Given the description of an element on the screen output the (x, y) to click on. 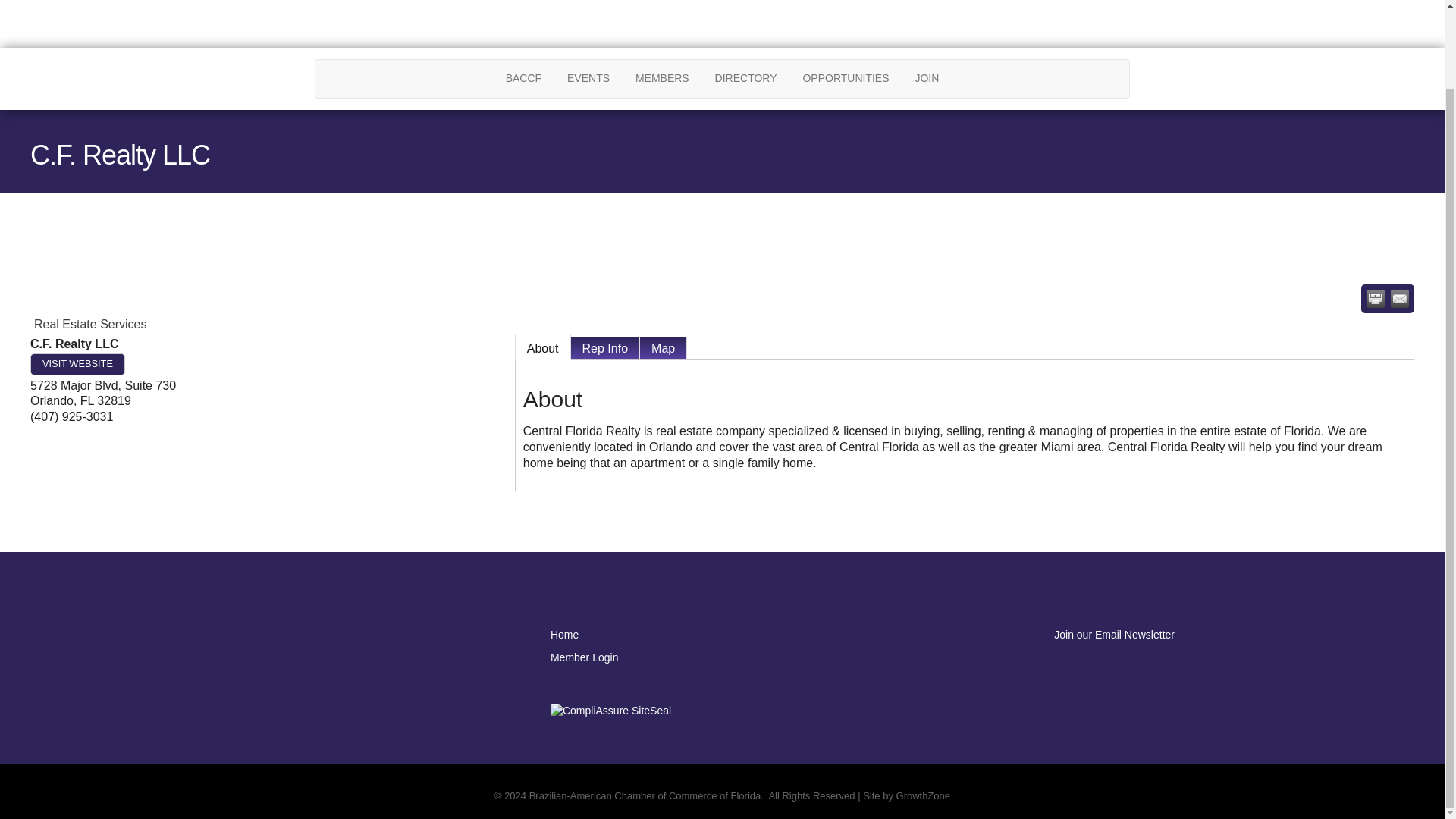
EVENTS (588, 78)
JOIN (926, 78)
Share by Email (1399, 298)
BACCF (524, 78)
DIRECTORY (746, 78)
Visit the website of C.F. Realty LLC (77, 363)
Print this page (1375, 298)
OPPORTUNITIES (844, 78)
MEMBERS (662, 78)
